Given the description of an element on the screen output the (x, y) to click on. 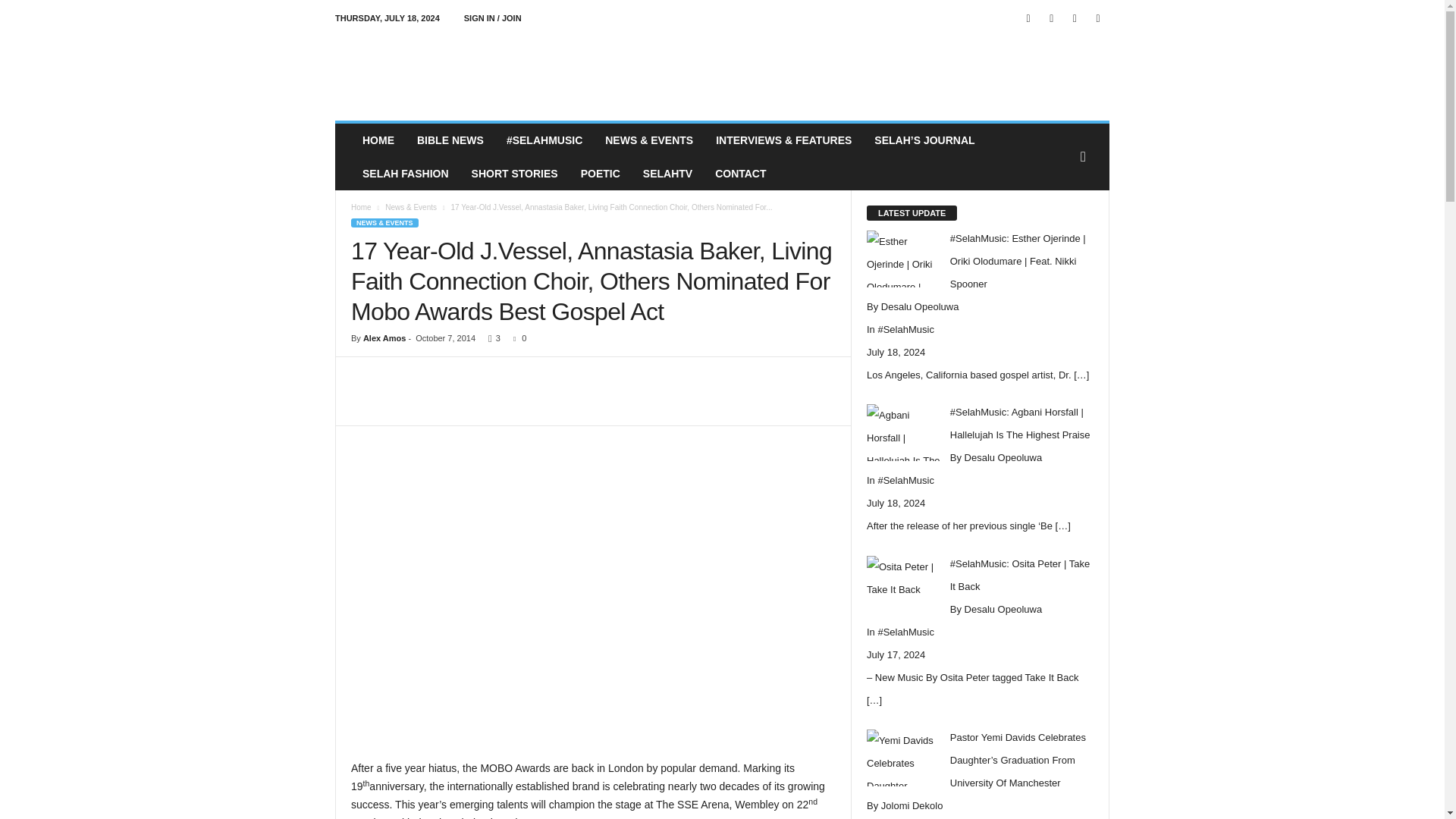
topFacebookLike (390, 372)
SELAHTV (667, 173)
SHORT STORIES (514, 173)
Facebook (1027, 18)
Instagram (1051, 18)
SelahAfrik (437, 70)
Twitter (1074, 18)
BIBLE NEWS (450, 140)
POETIC (600, 173)
HOME (378, 140)
Youtube (1097, 18)
